Given the description of an element on the screen output the (x, y) to click on. 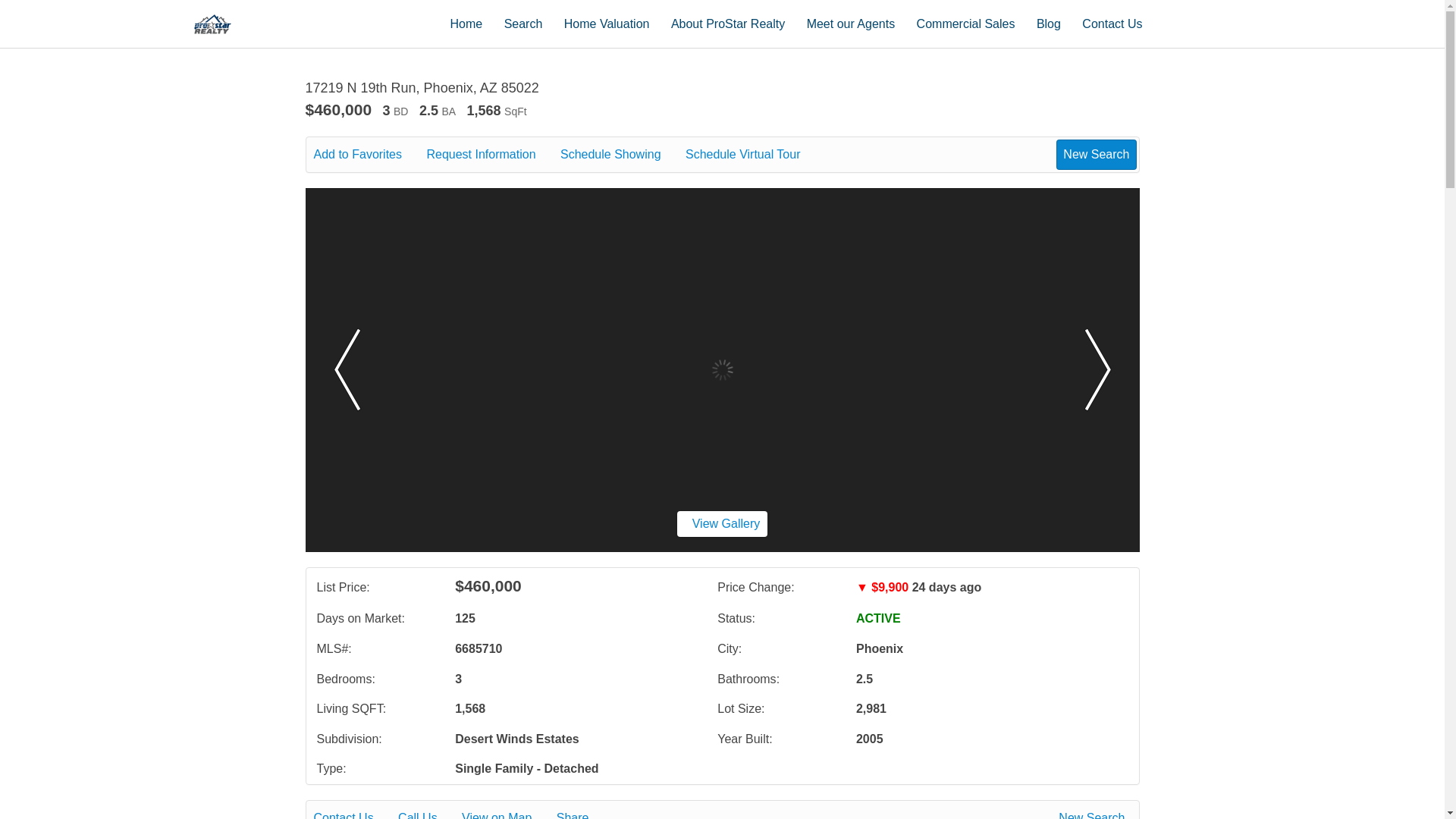
Call Us (427, 812)
Home Valuation (606, 23)
Contact Us (1111, 23)
Blog (1048, 23)
Share (583, 812)
New Search (1094, 812)
Request Information (491, 154)
New Search (1096, 154)
View on Map (507, 812)
View Gallery (722, 522)
Add to Favorites (368, 154)
View Gallery (722, 524)
Contact Us (354, 812)
Search (523, 23)
Schedule Virtual Tour (753, 154)
